Given the description of an element on the screen output the (x, y) to click on. 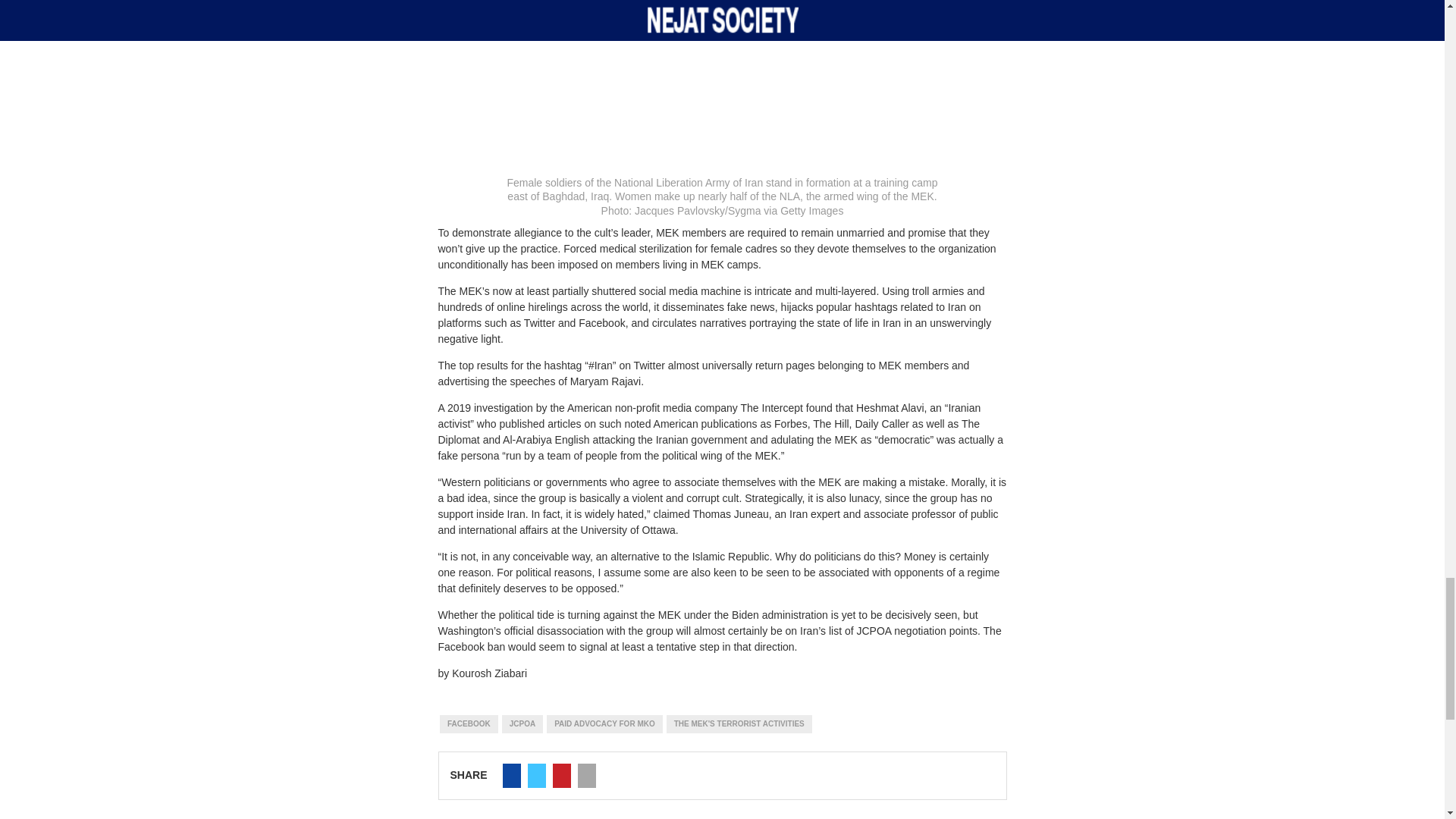
PAID ADVOCACY FOR MKO (604, 723)
FACEBOOK (468, 723)
THE MEK'S TERRORIST ACTIVITIES (739, 723)
JCPOA (522, 723)
